Given the description of an element on the screen output the (x, y) to click on. 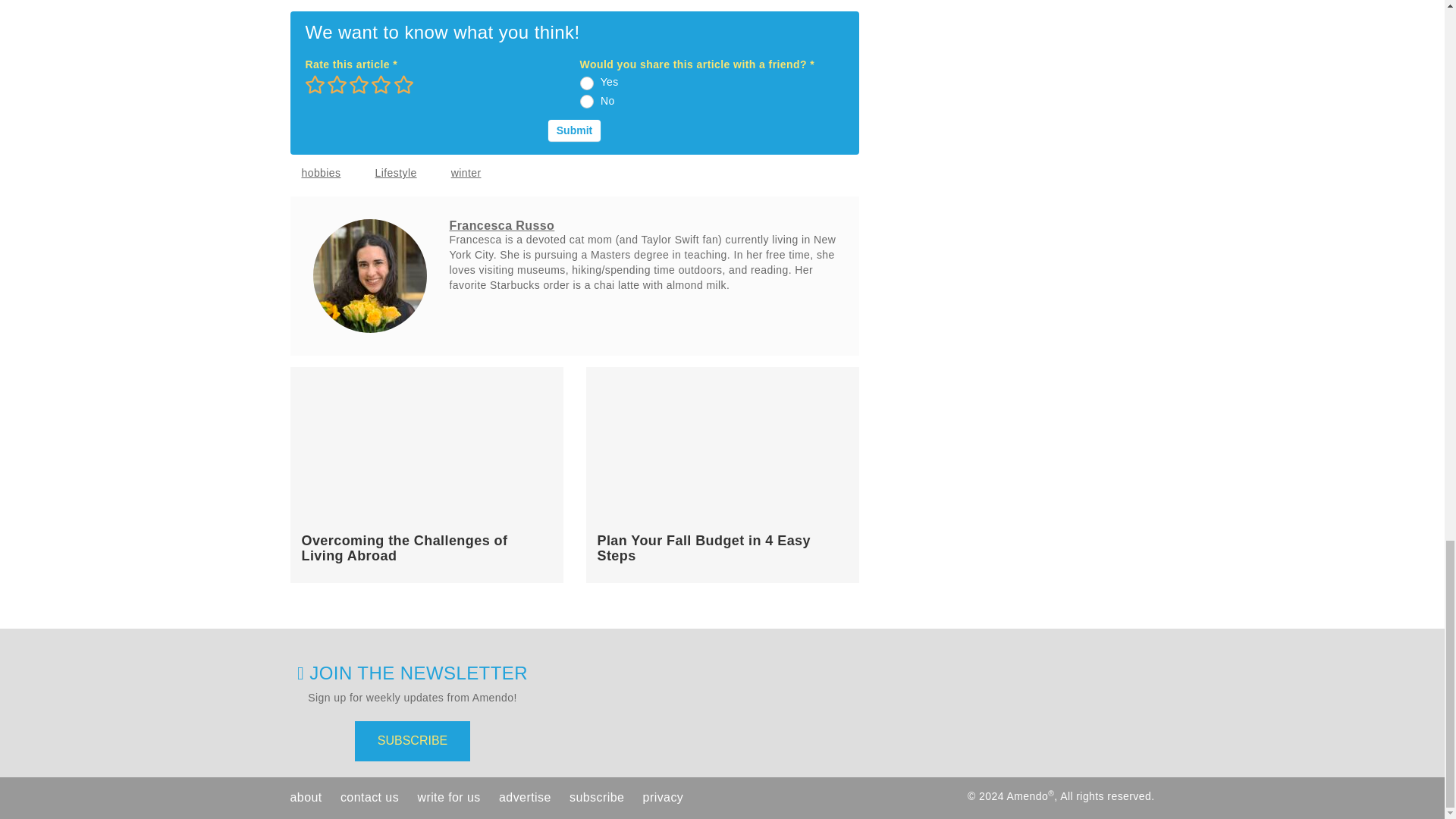
Francesca Russo (501, 225)
hobbies (320, 173)
Yes (586, 83)
Lifestyle (395, 173)
Plan Your Fall Budget in 4 Easy Steps (703, 548)
Submit (573, 129)
winter (466, 173)
No (586, 101)
Overcoming the Challenges of Living Abroad (404, 548)
